Given the description of an element on the screen output the (x, y) to click on. 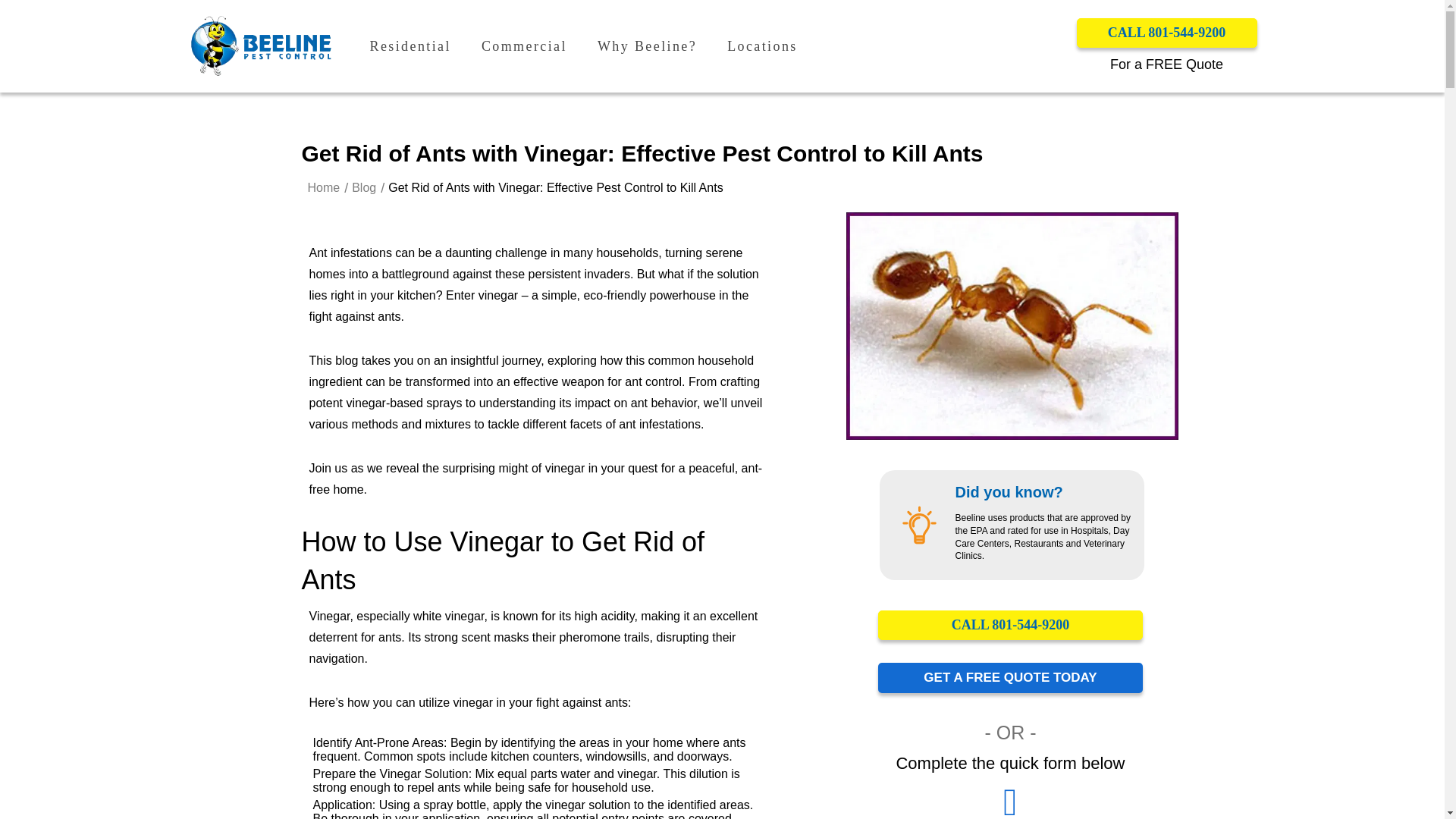
CALL 801-544-9200 (1009, 624)
Why Beeline? (646, 46)
Residential (410, 46)
Locations (761, 46)
CALL 801-544-9200 (1167, 32)
GET A FREE QUOTE TODAY (1009, 677)
Home (323, 187)
thief-ant - Beeline Pest Control (1011, 325)
Commercial (524, 46)
Blog (363, 187)
